Given the description of an element on the screen output the (x, y) to click on. 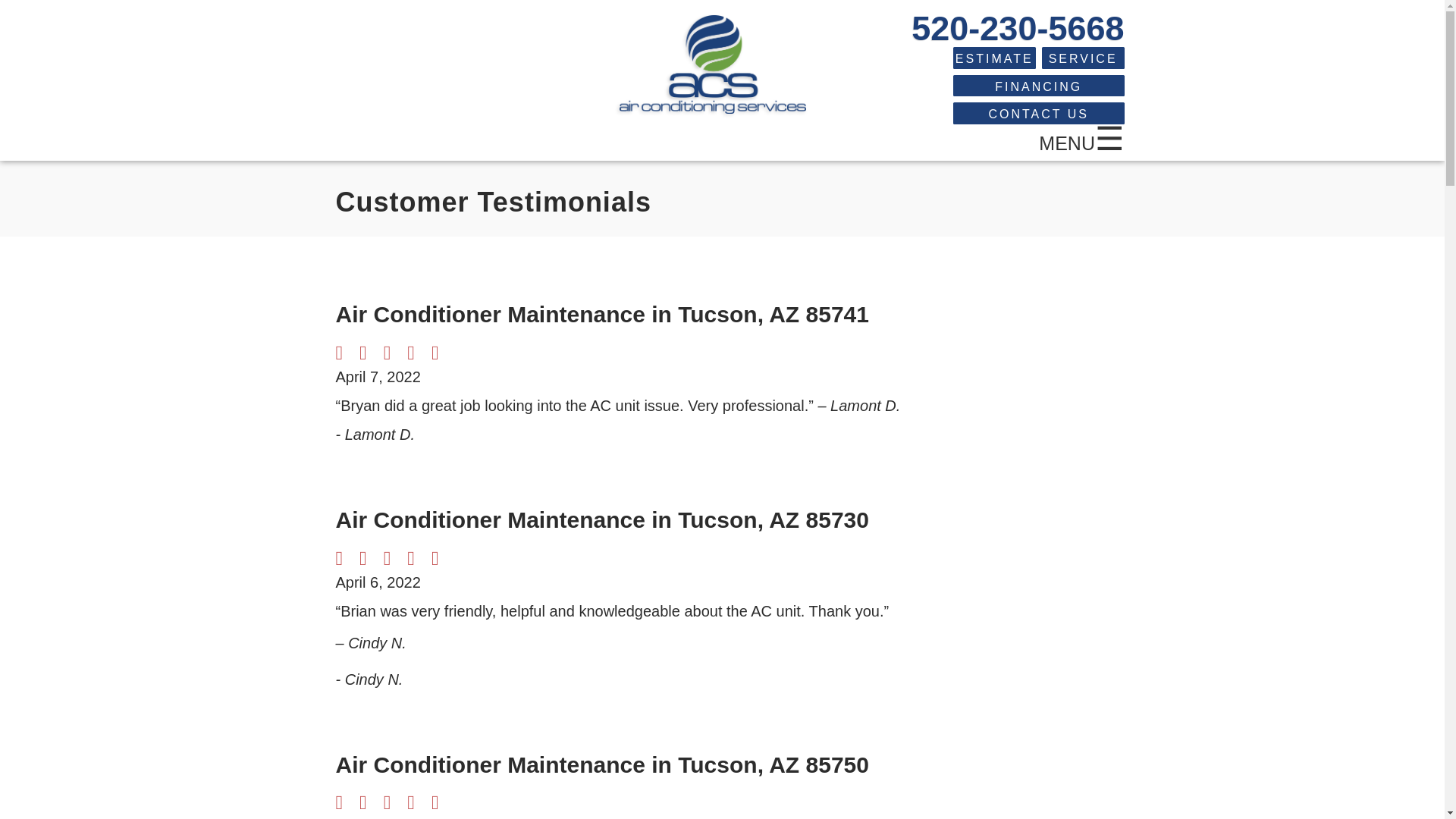
CONTACT US (1038, 113)
520-230-5668 (1017, 28)
Air Conditioner Maintenance in Tucson, AZ 85750 (600, 764)
Air Conditioner Maintenance in Tucson, AZ 85730 (600, 519)
FINANCING (1038, 86)
ESTIMATE (994, 57)
SERVICE (1083, 57)
Air Conditioner Maintenance in Tucson, AZ 85741 (600, 314)
logo-fullsize (713, 64)
